Given the description of an element on the screen output the (x, y) to click on. 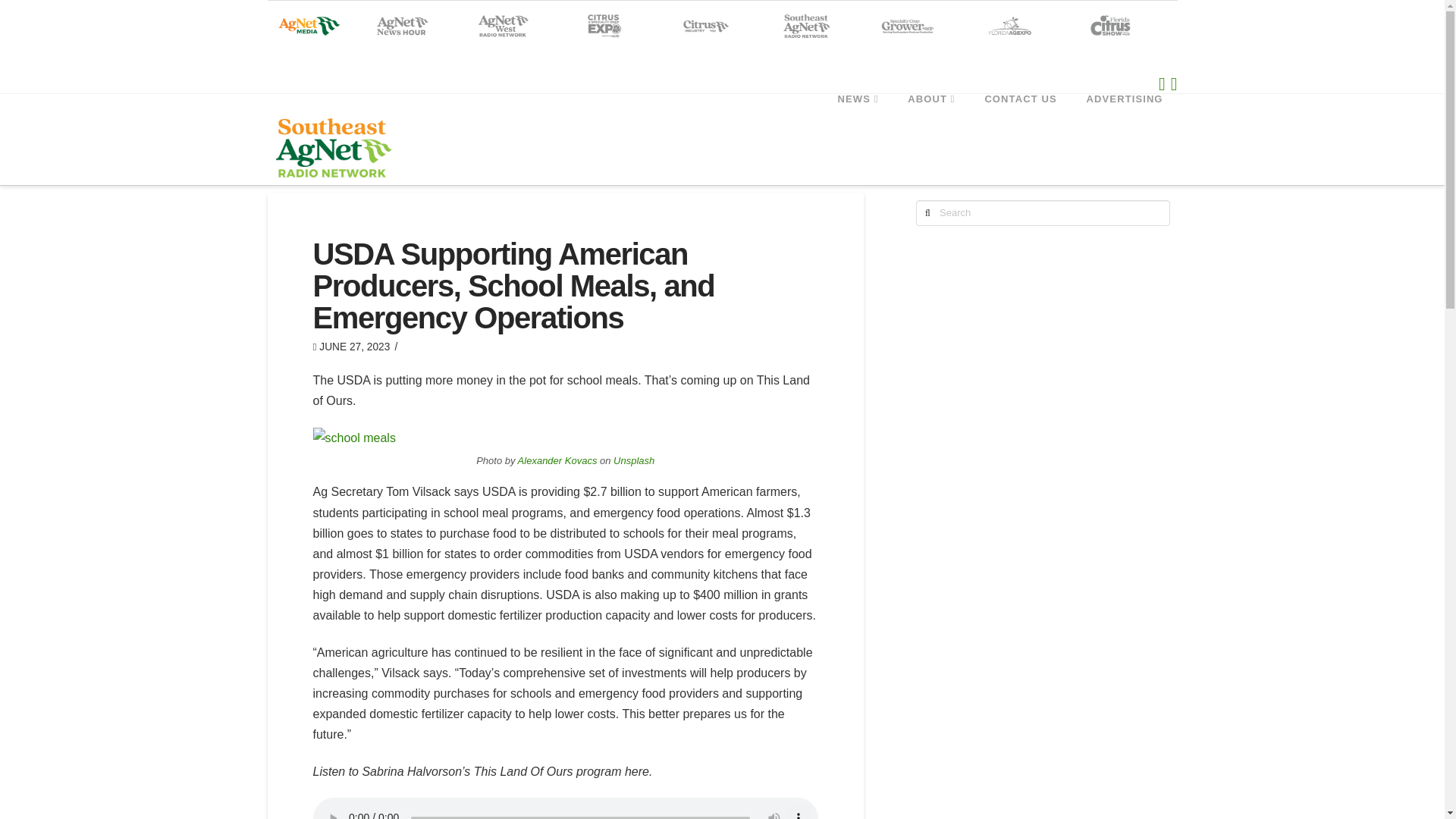
NEWS (857, 128)
ADVERTISING (1124, 128)
ABOUT (930, 128)
CONTACT US (1019, 128)
